Given the description of an element on the screen output the (x, y) to click on. 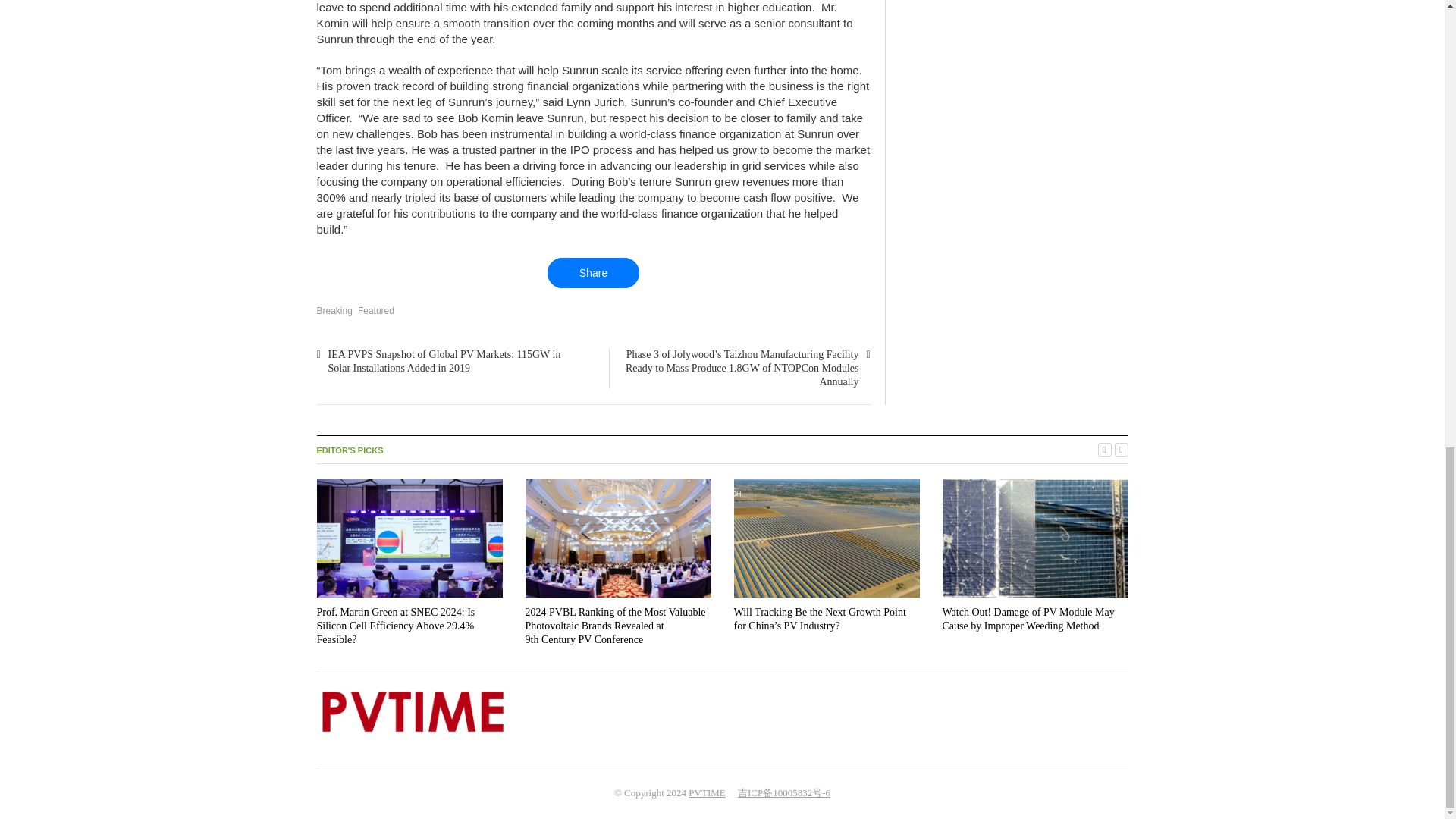
Featured (376, 310)
Share (593, 272)
Breaking (334, 310)
